Given the description of an element on the screen output the (x, y) to click on. 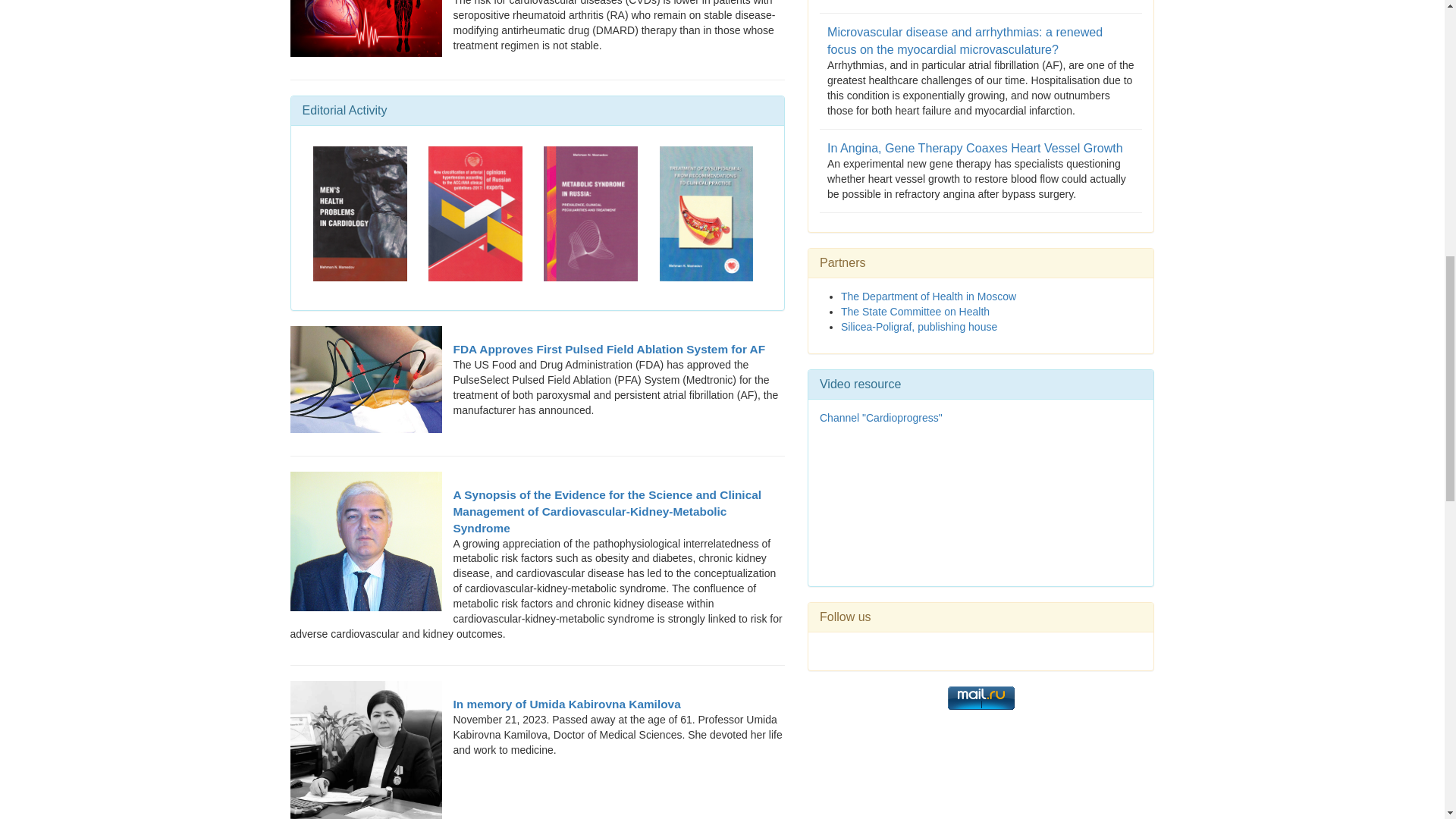
In memory of Umida Kabirovna Kamilova (536, 704)
FDA Approves First Pulsed Field Ablation System for AF (536, 349)
